Given the description of an element on the screen output the (x, y) to click on. 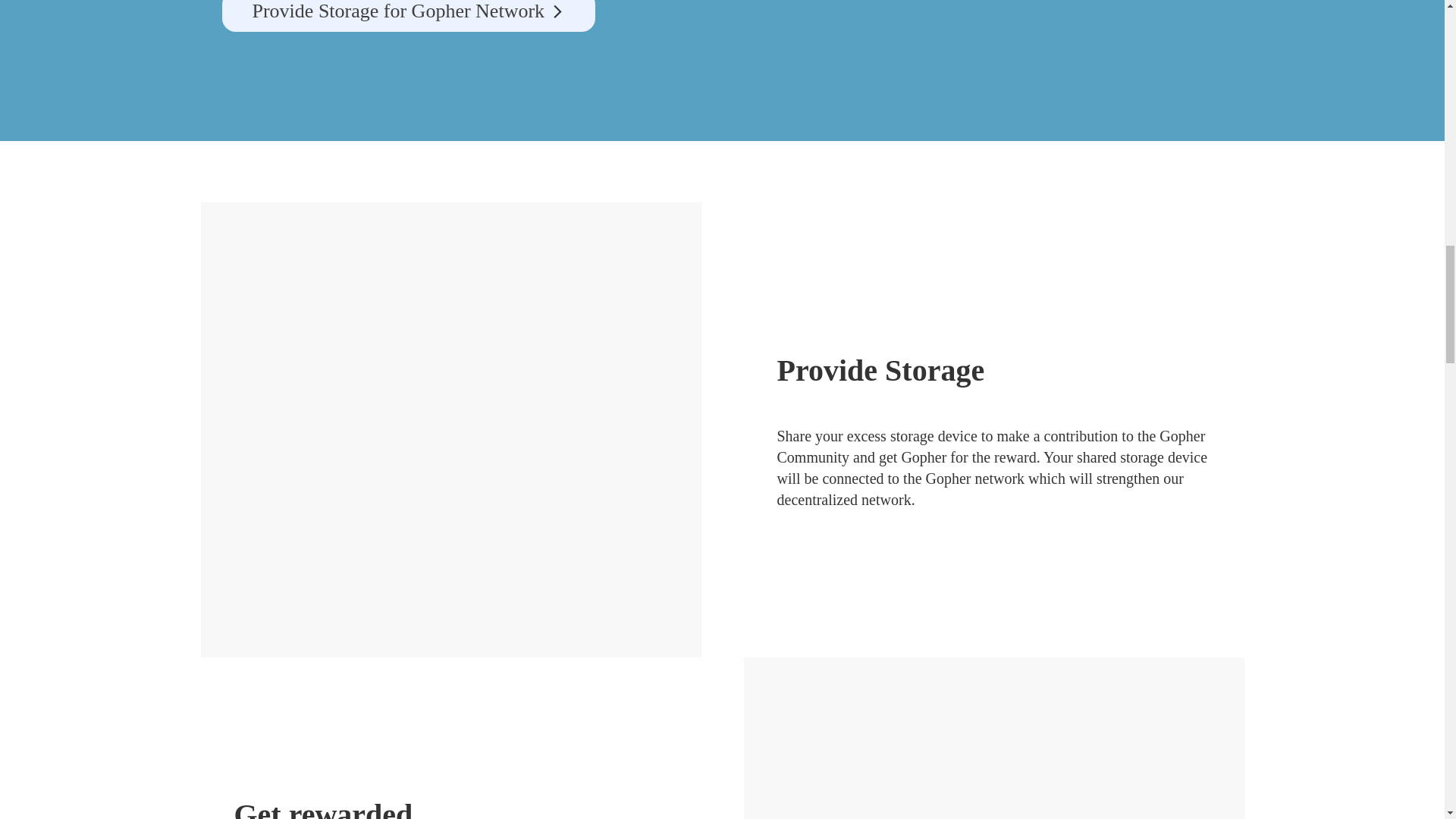
Provide Storage for Gopher Network (408, 15)
